Given the description of an element on the screen output the (x, y) to click on. 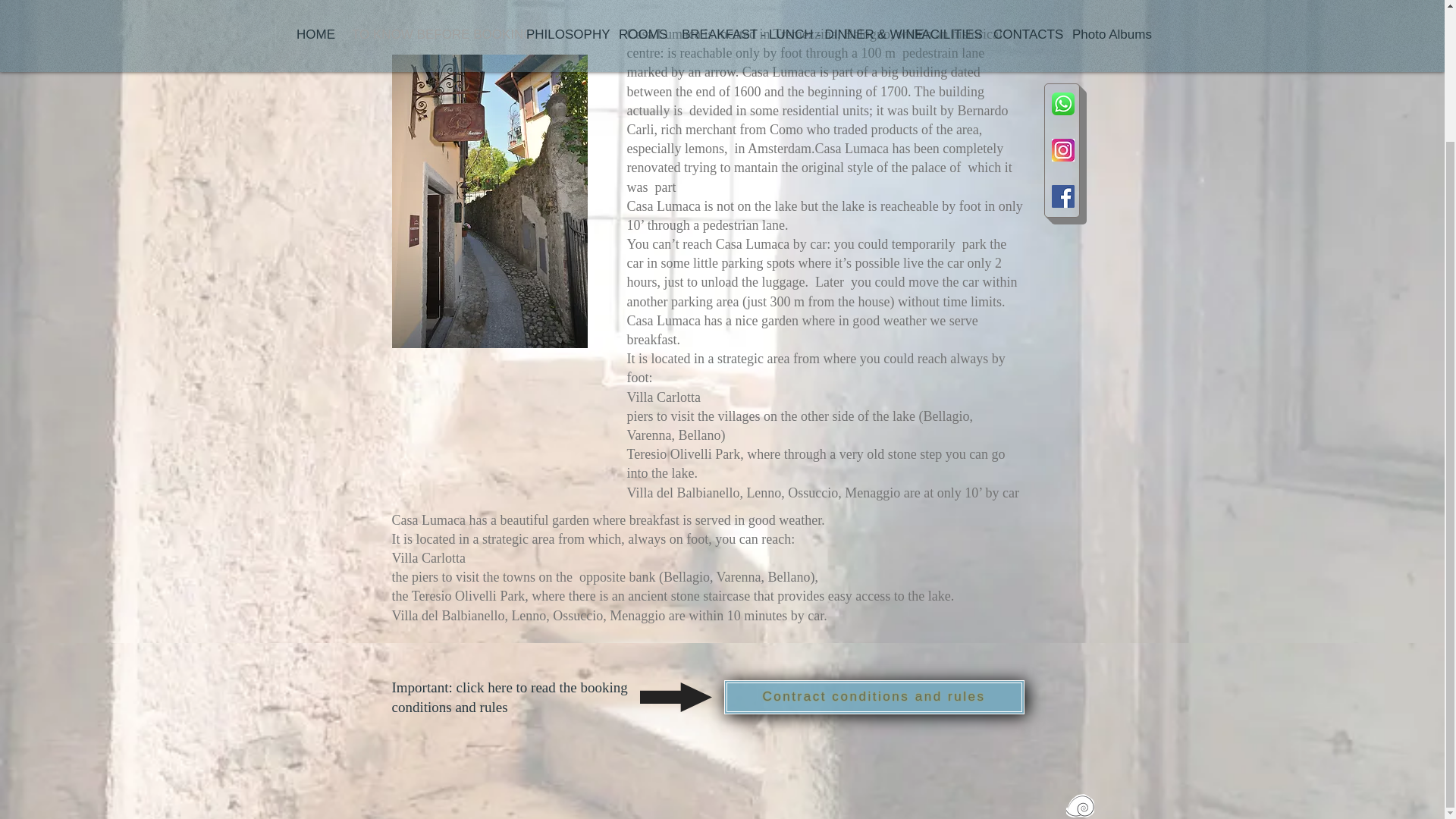
Contract conditions and rules (873, 697)
